Given the description of an element on the screen output the (x, y) to click on. 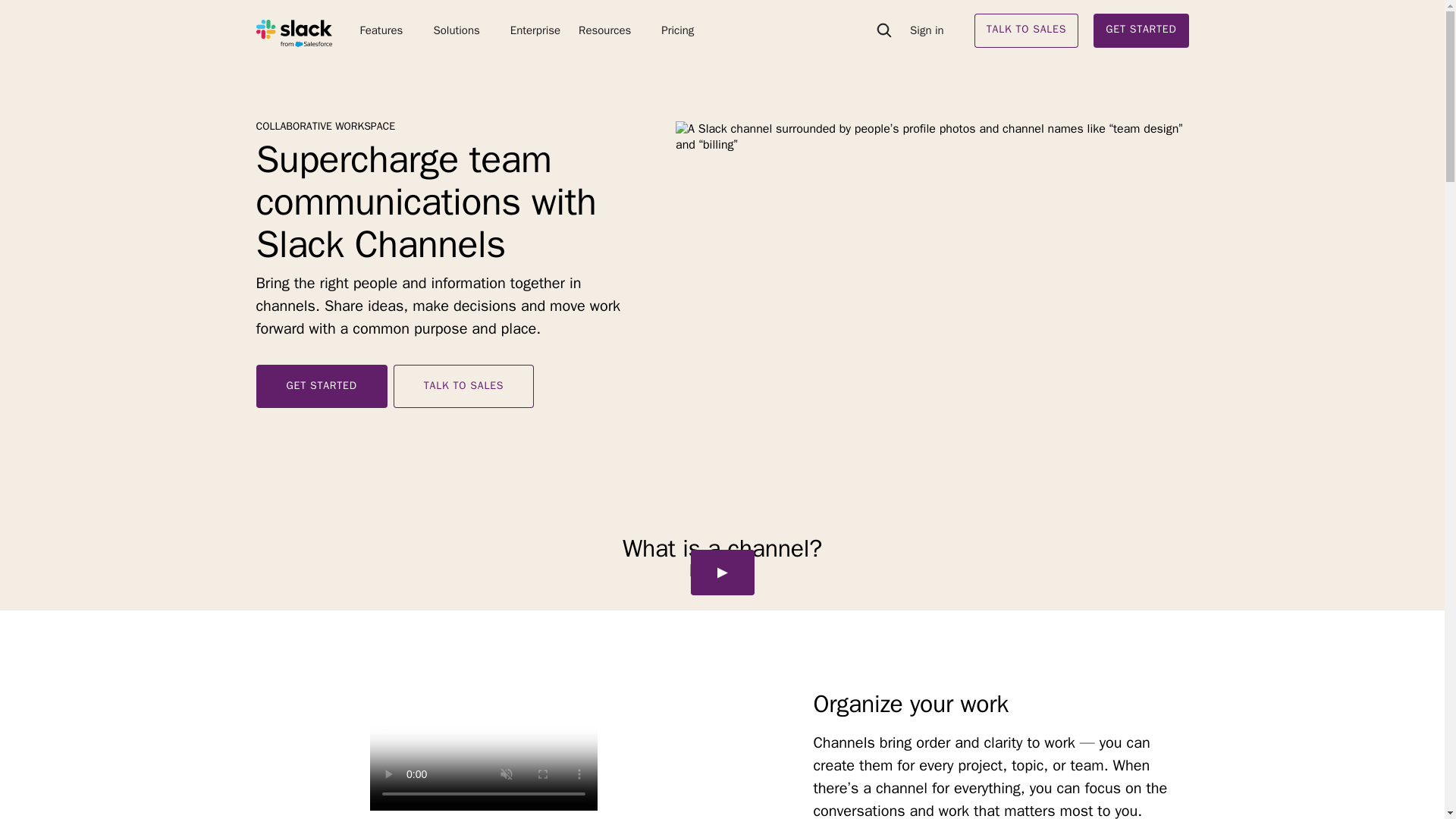
Features (386, 30)
Solutions (462, 30)
